Given the description of an element on the screen output the (x, y) to click on. 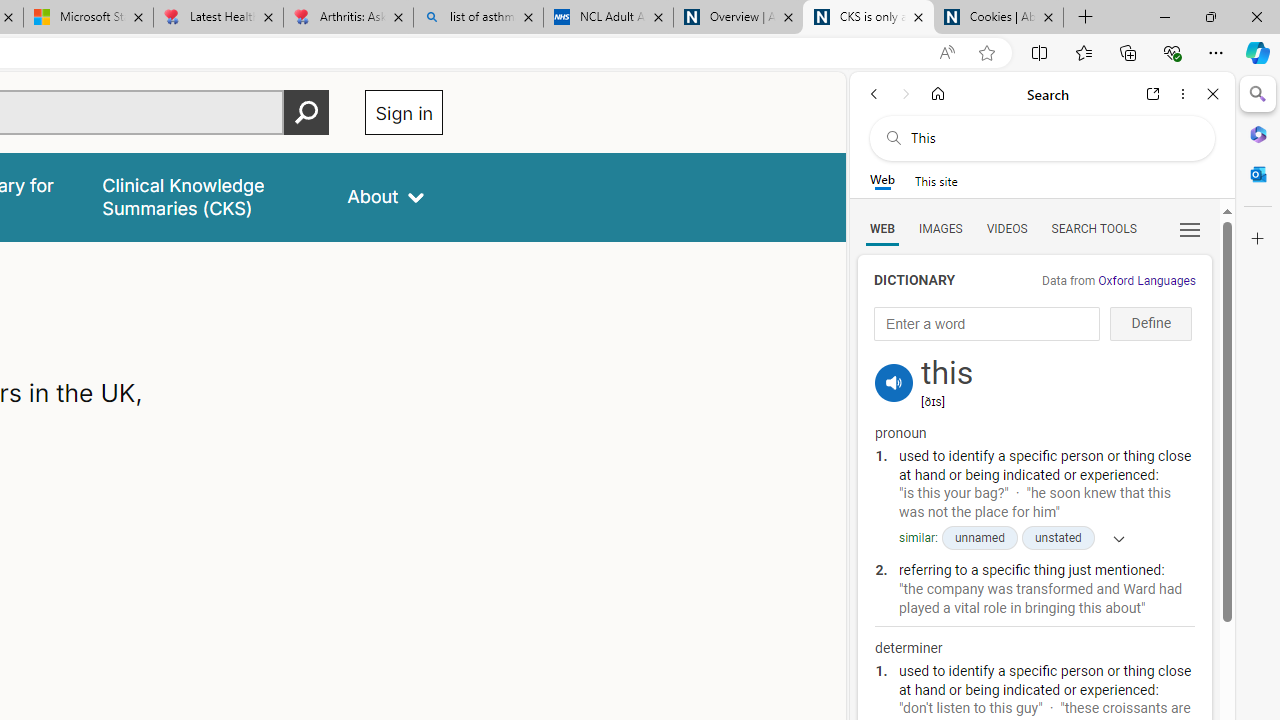
Read aloud this page (Ctrl+Shift+U) (946, 53)
unnamed (978, 538)
New Tab (1085, 17)
Forward (906, 93)
Restore (1210, 16)
Web scope (882, 180)
Perform search (307, 112)
VIDEOS (1006, 228)
Enter a word (987, 323)
WEB   (882, 228)
IMAGES (939, 228)
Cookies | About | NICE (998, 17)
Search Filter, Search Tools (1093, 228)
Split screen (1039, 52)
Open link in new tab (1153, 93)
